Given the description of an element on the screen output the (x, y) to click on. 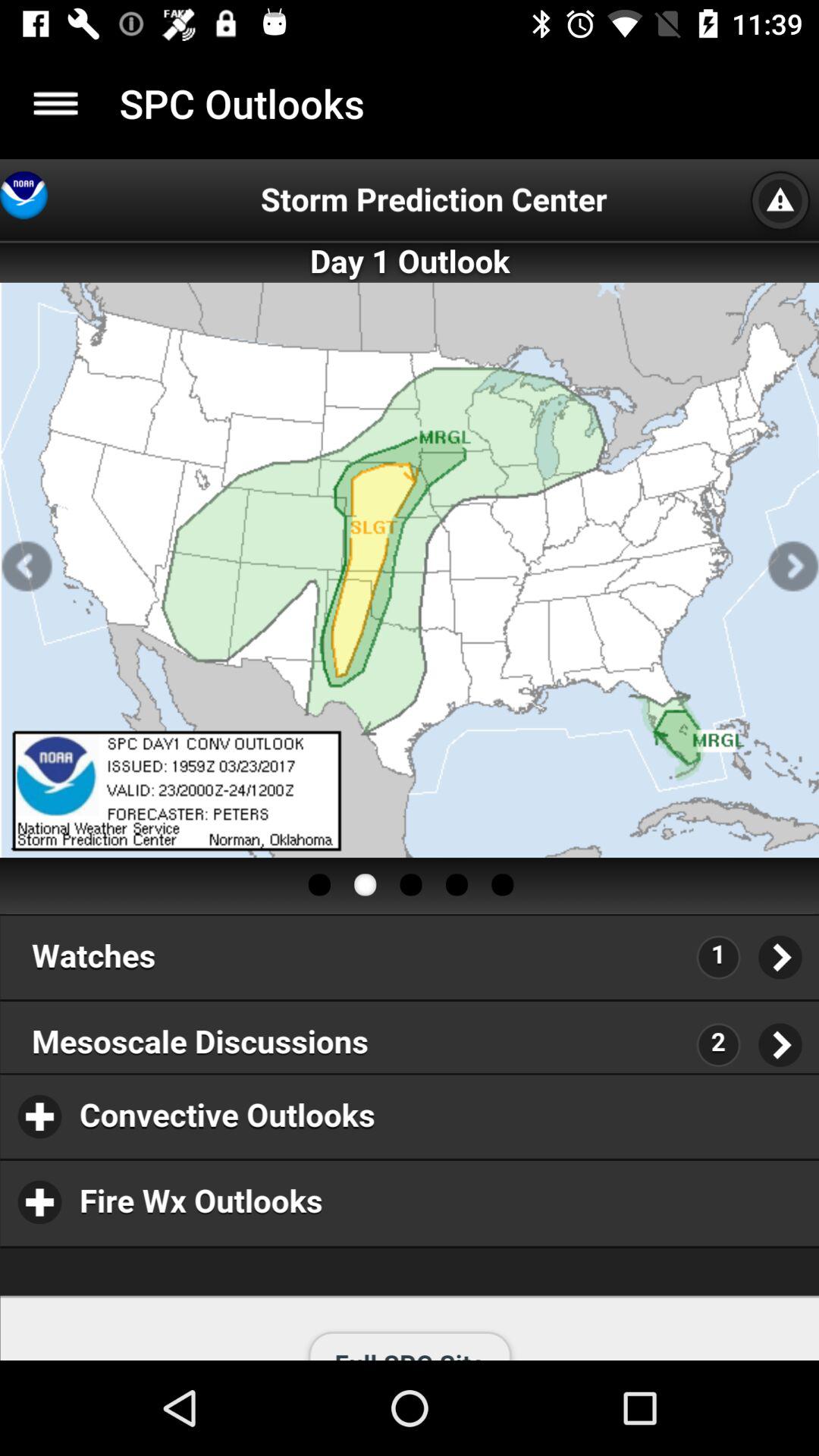
menu (55, 103)
